Given the description of an element on the screen output the (x, y) to click on. 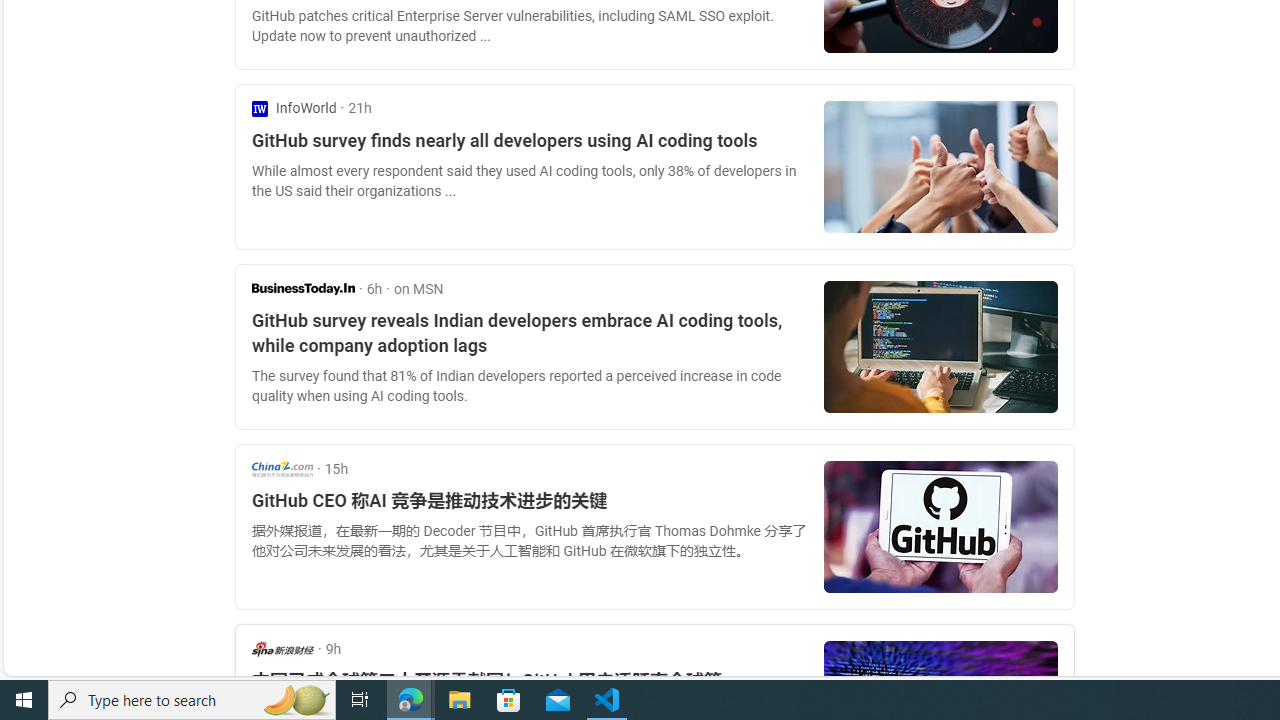
Search news from InfoWorld (294, 108)
Business Today (303, 288)
